Given the description of an element on the screen output the (x, y) to click on. 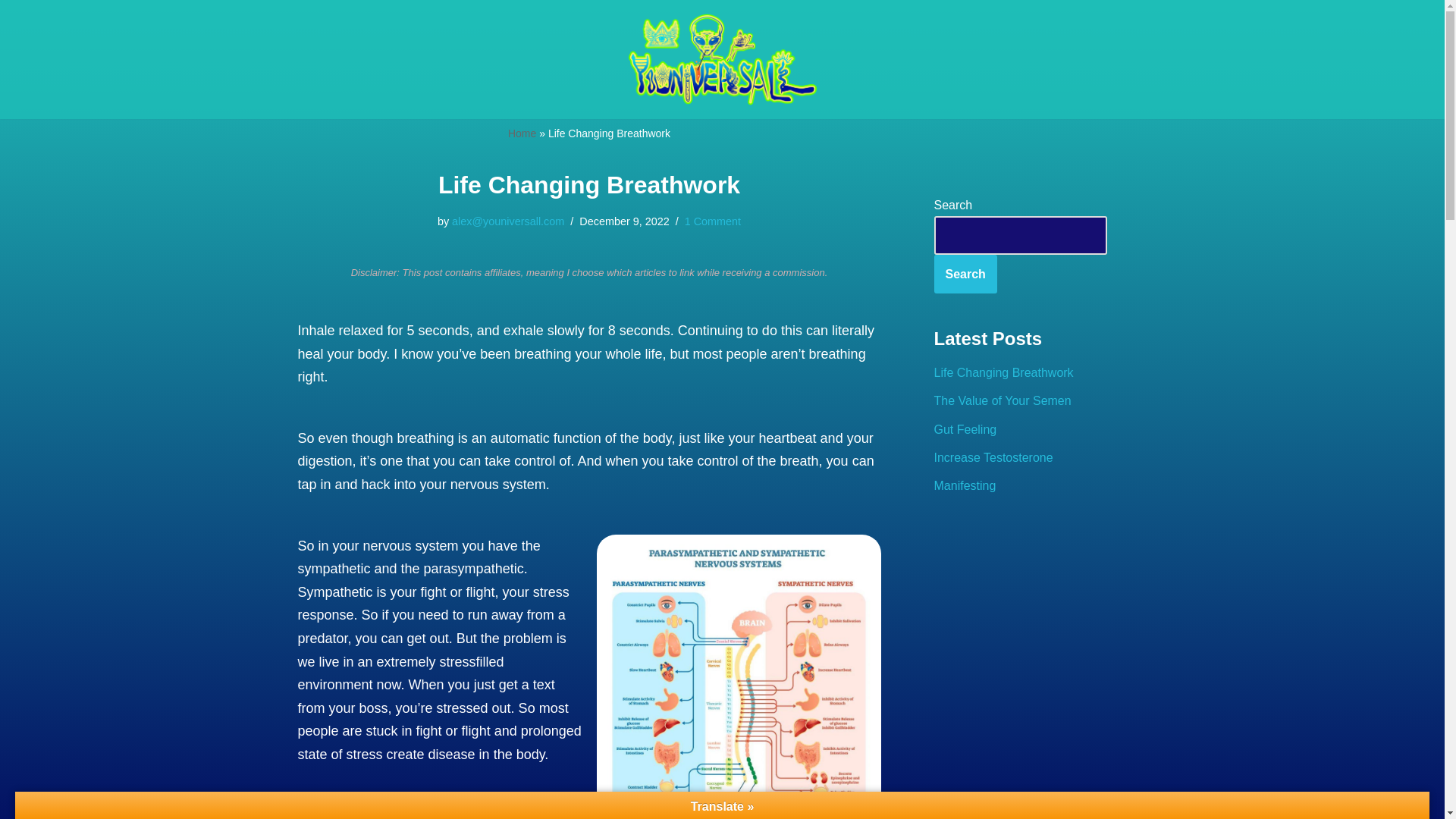
1 Comment (712, 221)
Home (521, 133)
Skip to content (11, 31)
